Given the description of an element on the screen output the (x, y) to click on. 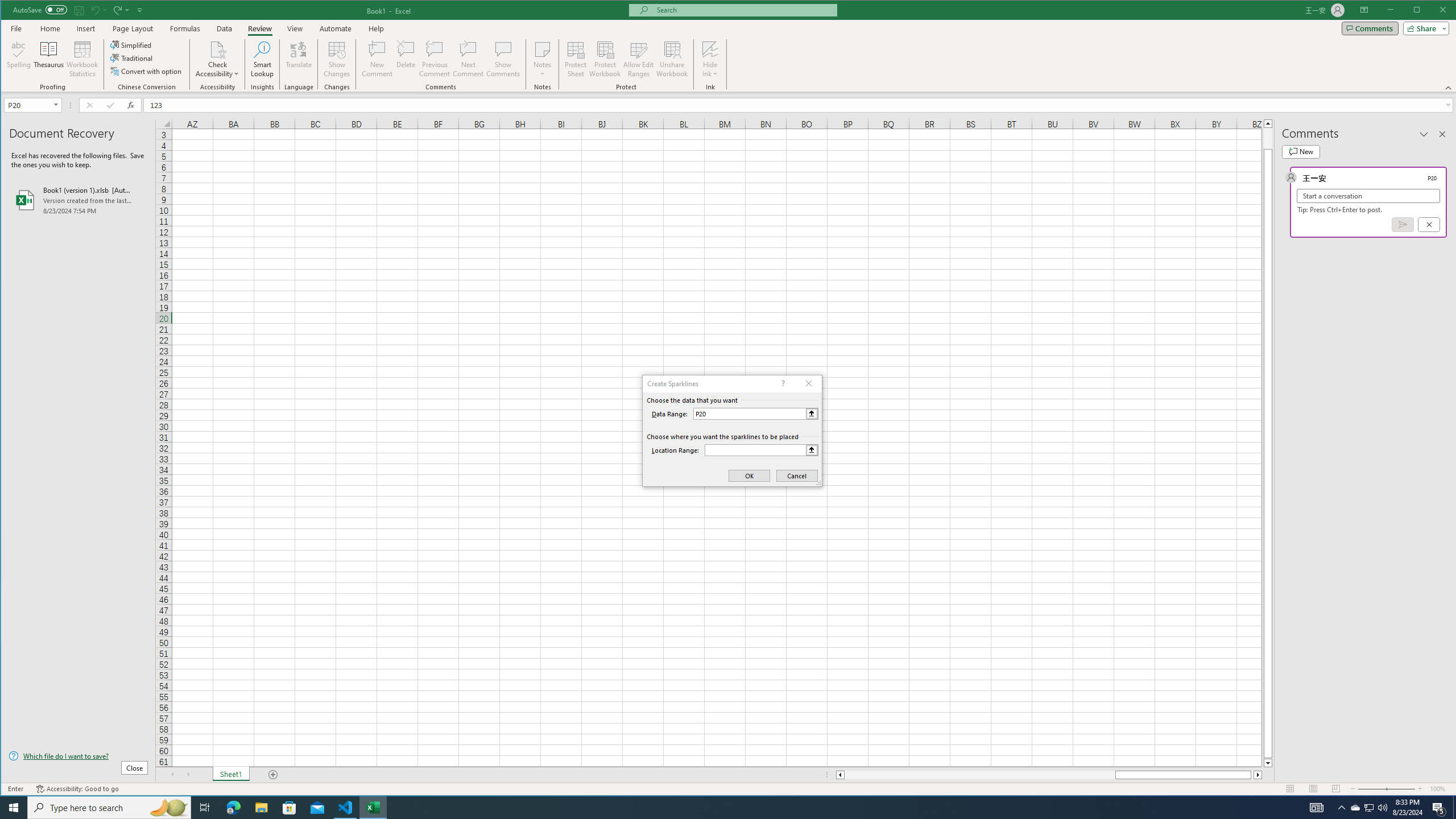
Page up (1267, 138)
Traditional (132, 57)
Convert with option (146, 70)
Translate (298, 59)
Start a conversation (1368, 195)
Cancel (1428, 224)
